Given the description of an element on the screen output the (x, y) to click on. 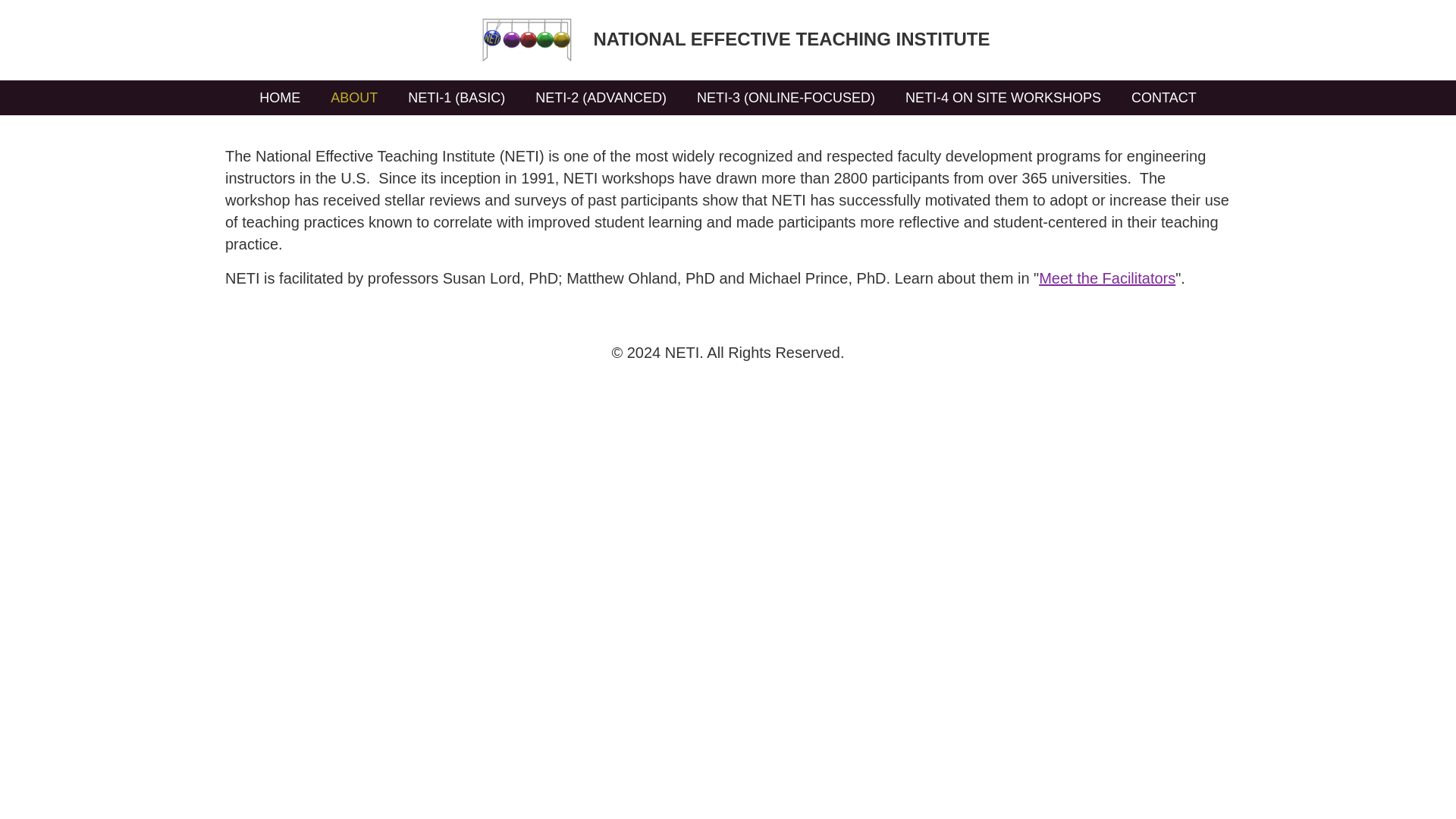
logo (527, 40)
ABOUT (354, 97)
Meet the Facilitators (1106, 278)
CONTACT (1163, 97)
HOME (279, 97)
NETI-4 ON SITE WORKSHOPS (1002, 97)
